Given the description of an element on the screen output the (x, y) to click on. 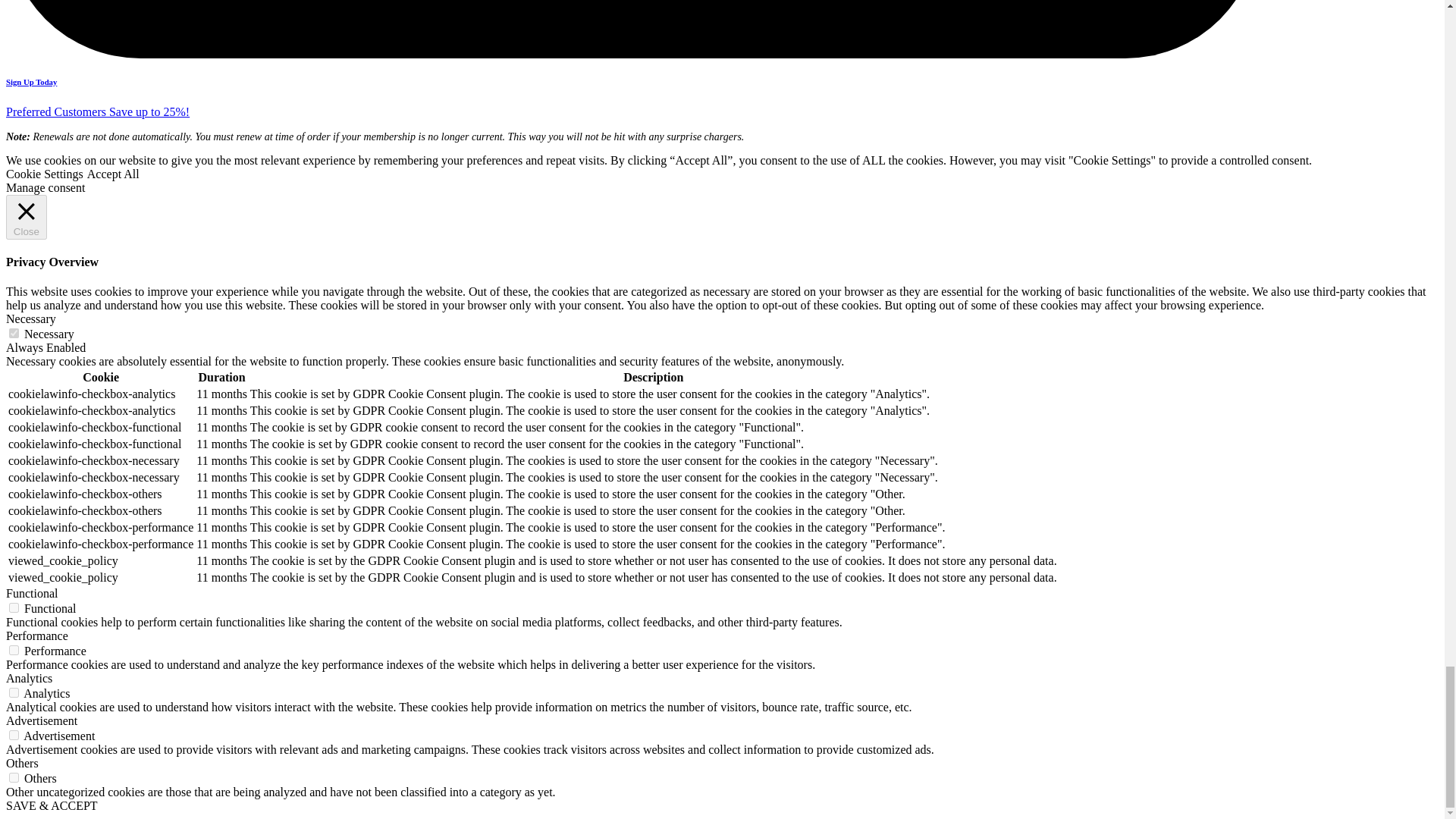
on (13, 777)
Performance (36, 635)
Accept All (113, 173)
Functional (31, 593)
on (13, 650)
Close (25, 216)
on (13, 607)
Cookie Settings (43, 173)
on (13, 692)
Analytics (28, 677)
Others (22, 762)
on (13, 735)
on (13, 333)
Necessary (30, 318)
Advertisement (41, 720)
